Given the description of an element on the screen output the (x, y) to click on. 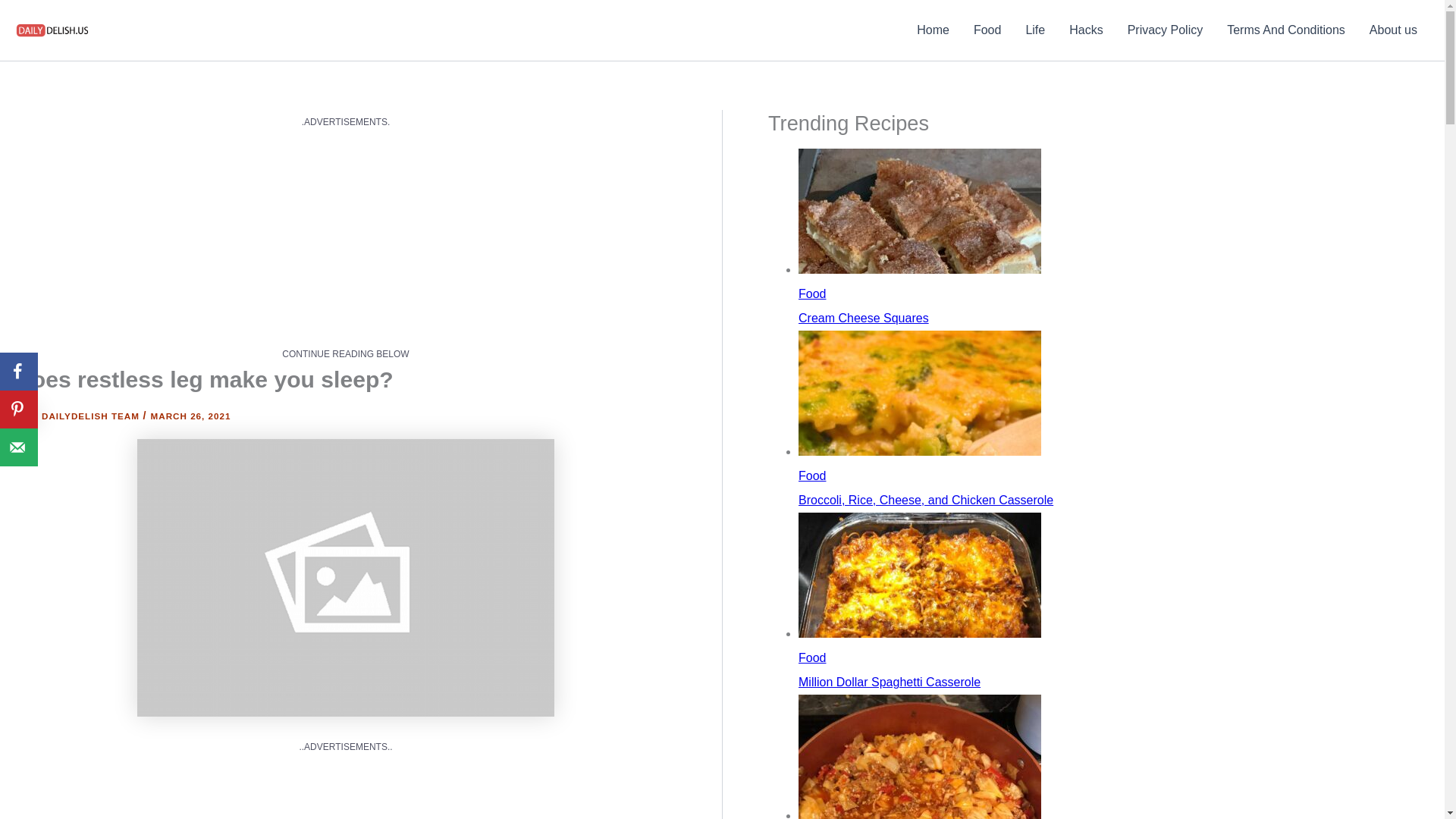
Advertisement (344, 237)
Hacks (1086, 30)
Share on Facebook (18, 371)
Advertisement (344, 787)
Terms And Conditions (1285, 30)
Home (932, 30)
About us (1392, 30)
Privacy Policy (1165, 30)
